Given the description of an element on the screen output the (x, y) to click on. 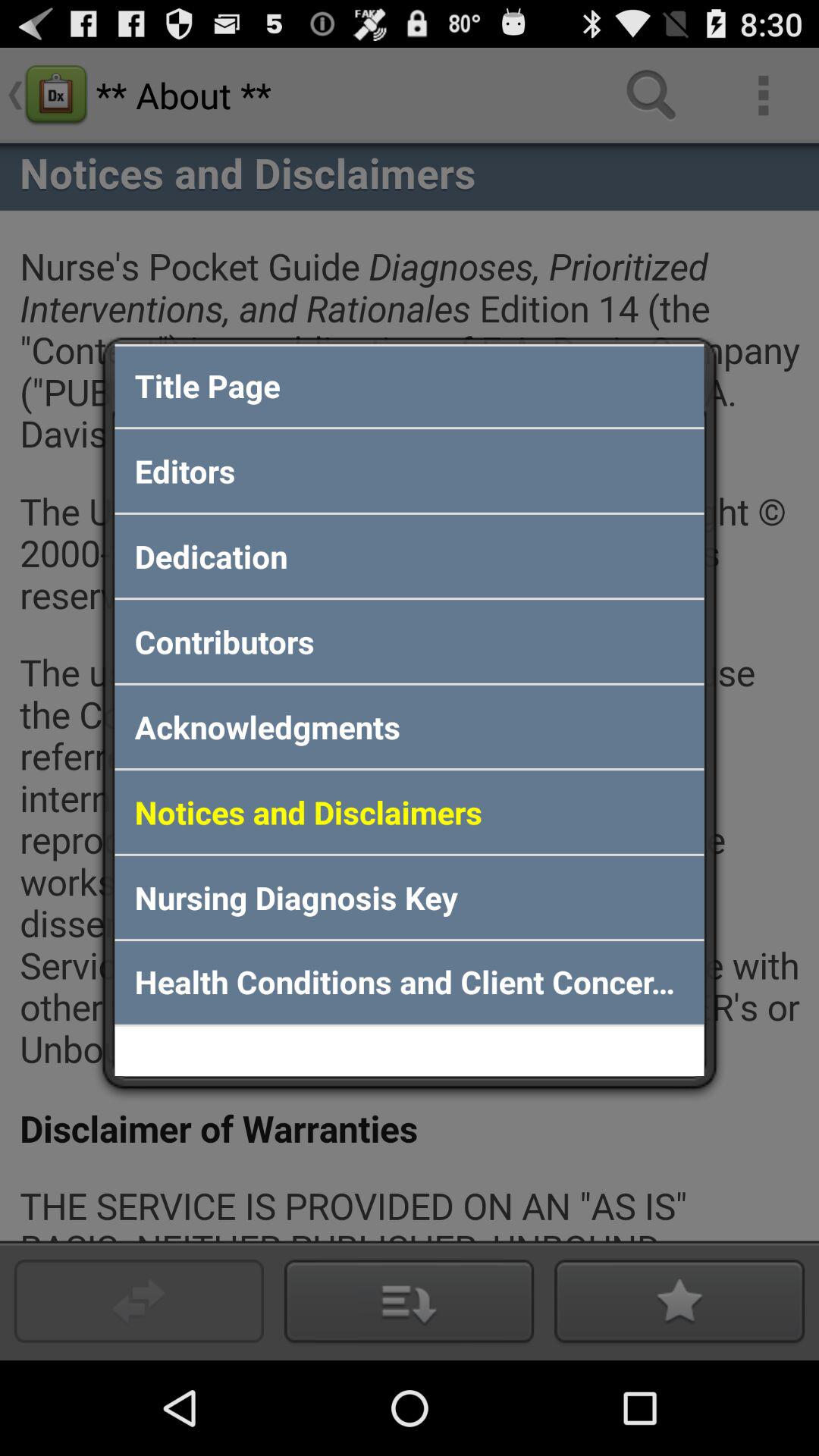
launch the health conditions and (409, 982)
